Given the description of an element on the screen output the (x, y) to click on. 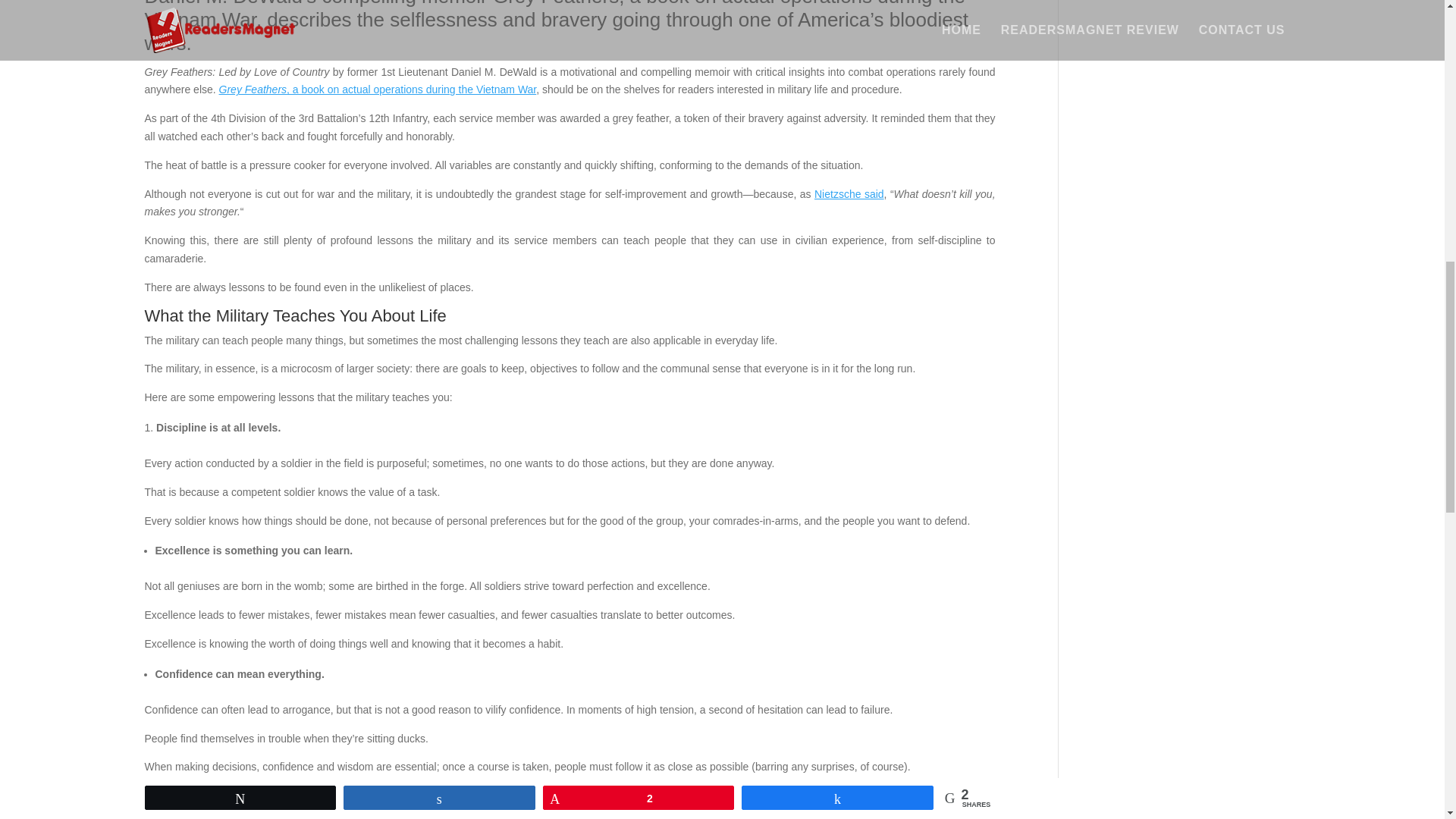
Nietzsche said (848, 193)
convincing reasons (280, 816)
